Given the description of an element on the screen output the (x, y) to click on. 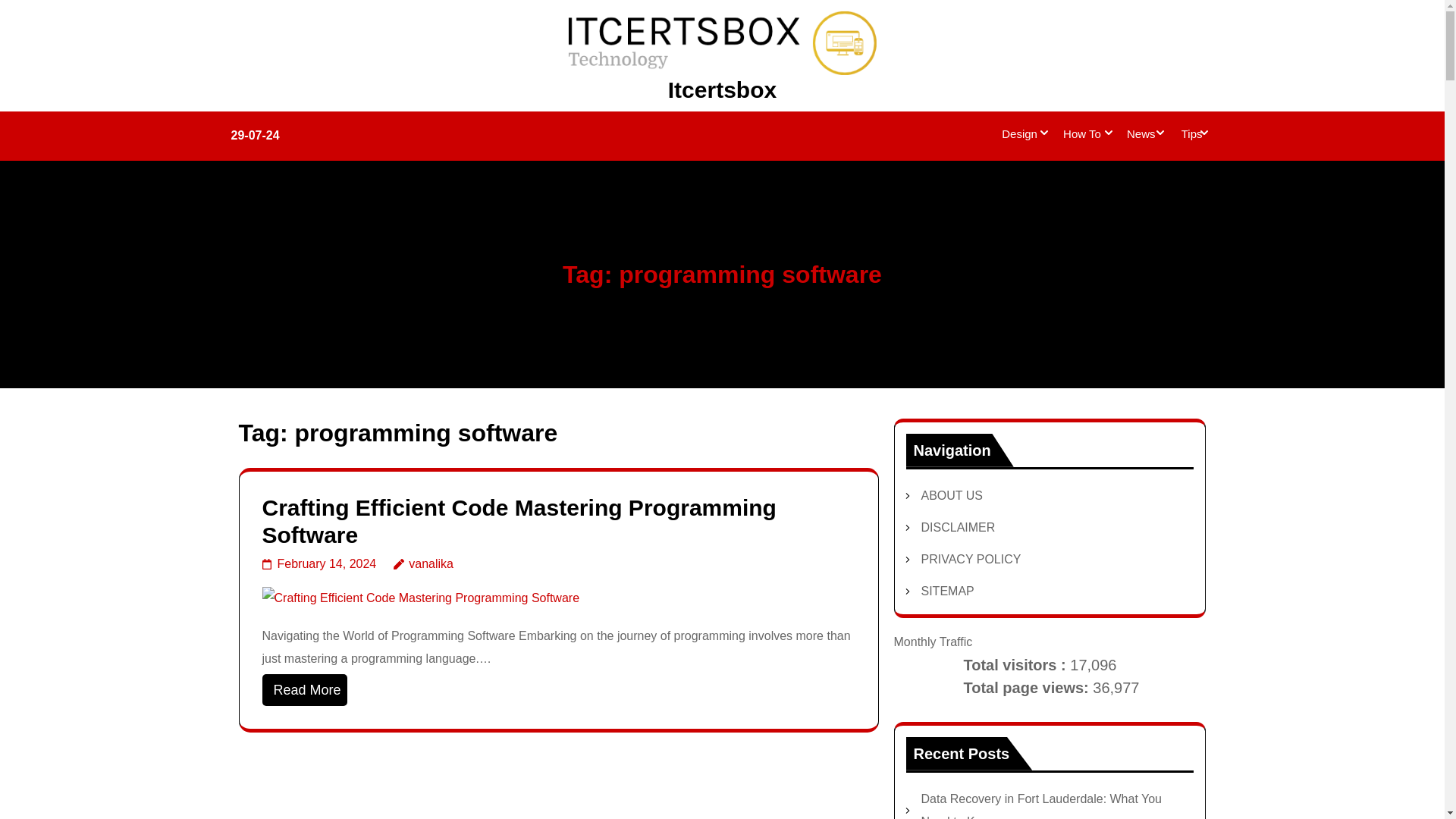
SITEMAP (947, 590)
Design (1018, 135)
How To (1081, 135)
News (1141, 135)
Crafting Efficient Code Mastering Programming Software (519, 521)
DISCLAIMER (957, 526)
vanalika (422, 563)
Data Recovery in Fort Lauderdale: What You Need to Know (1040, 805)
ABOUT US (951, 495)
PRIVACY POLICY (970, 558)
Itcertsbox (722, 89)
February 14, 2024 (319, 563)
Crafting Efficient Code Mastering Programming Software (420, 598)
Read More (304, 689)
